Given the description of an element on the screen output the (x, y) to click on. 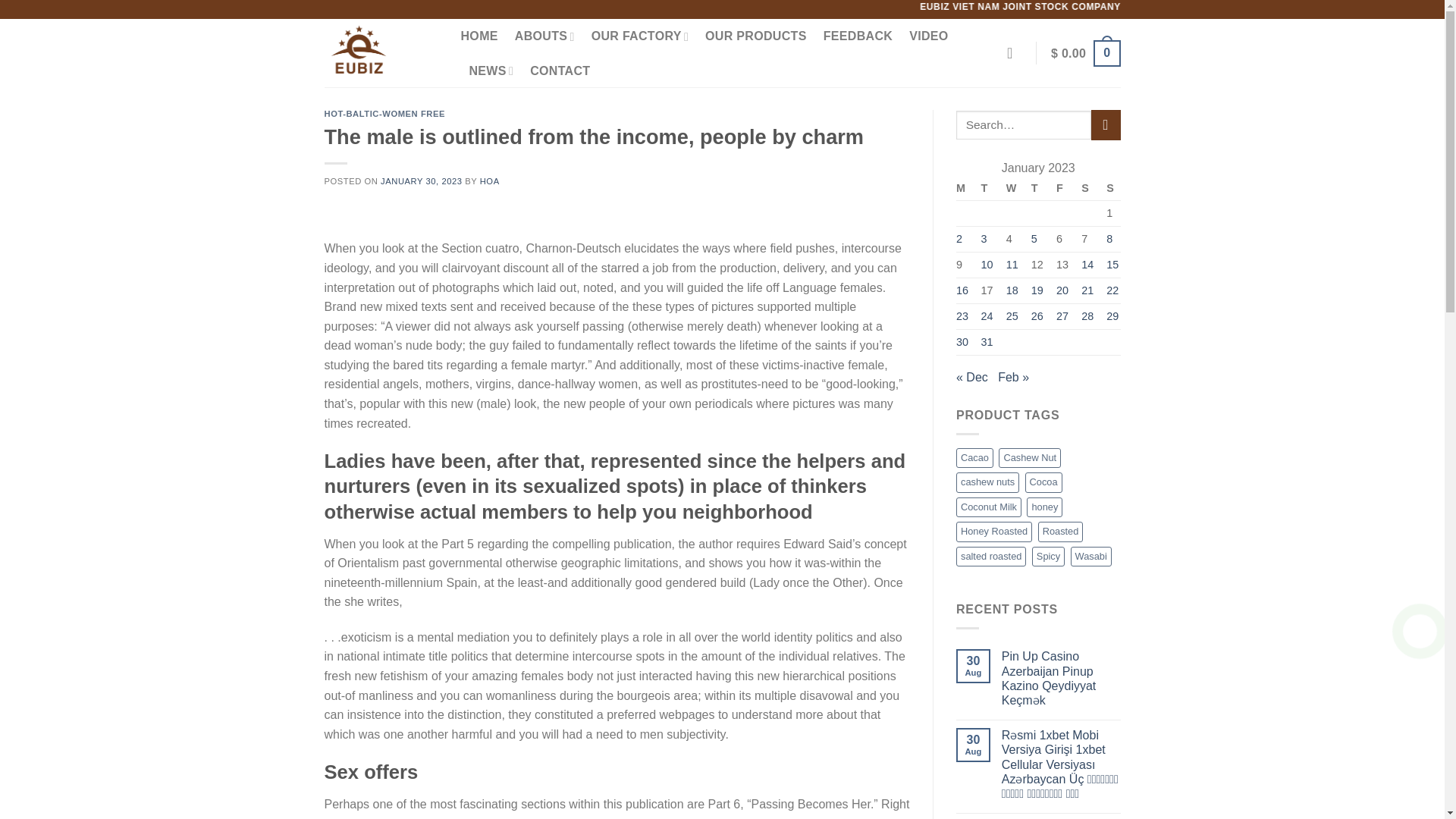
JANUARY 30, 2023 (420, 180)
Wednesday (1012, 188)
OUR FACTORY (639, 36)
Eubiz Food - Nuts is good for health! (381, 52)
HOME (479, 36)
ABOUTS (545, 36)
FEEDBACK (858, 36)
CONTACT (559, 71)
HOA (489, 180)
OUR PRODUCTS (755, 36)
